Given the description of an element on the screen output the (x, y) to click on. 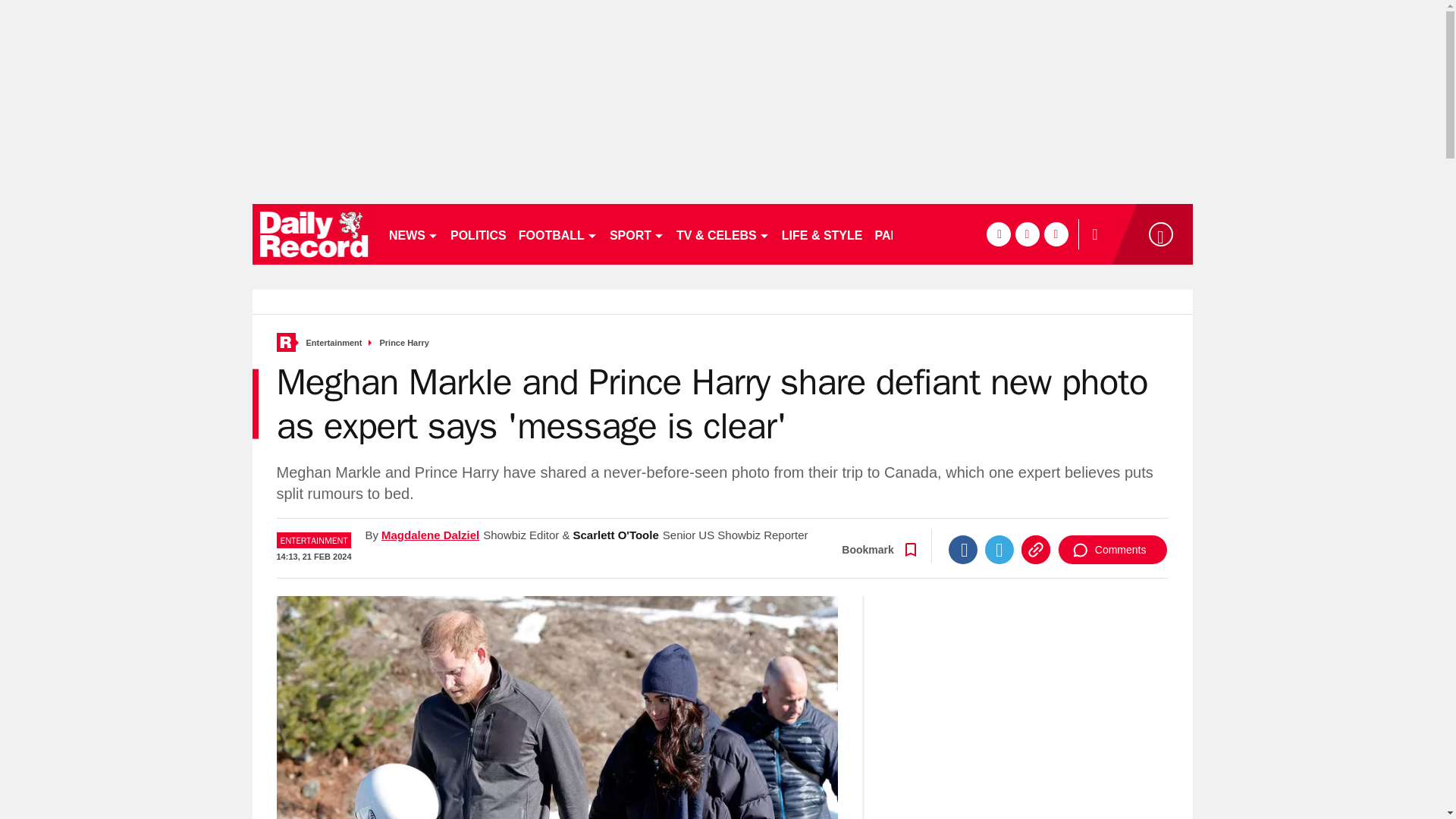
FOOTBALL (558, 233)
NEWS (413, 233)
Twitter (999, 549)
Comments (1112, 549)
instagram (1055, 233)
Facebook (962, 549)
facebook (997, 233)
dailyrecord (313, 233)
POLITICS (478, 233)
twitter (1026, 233)
